Given the description of an element on the screen output the (x, y) to click on. 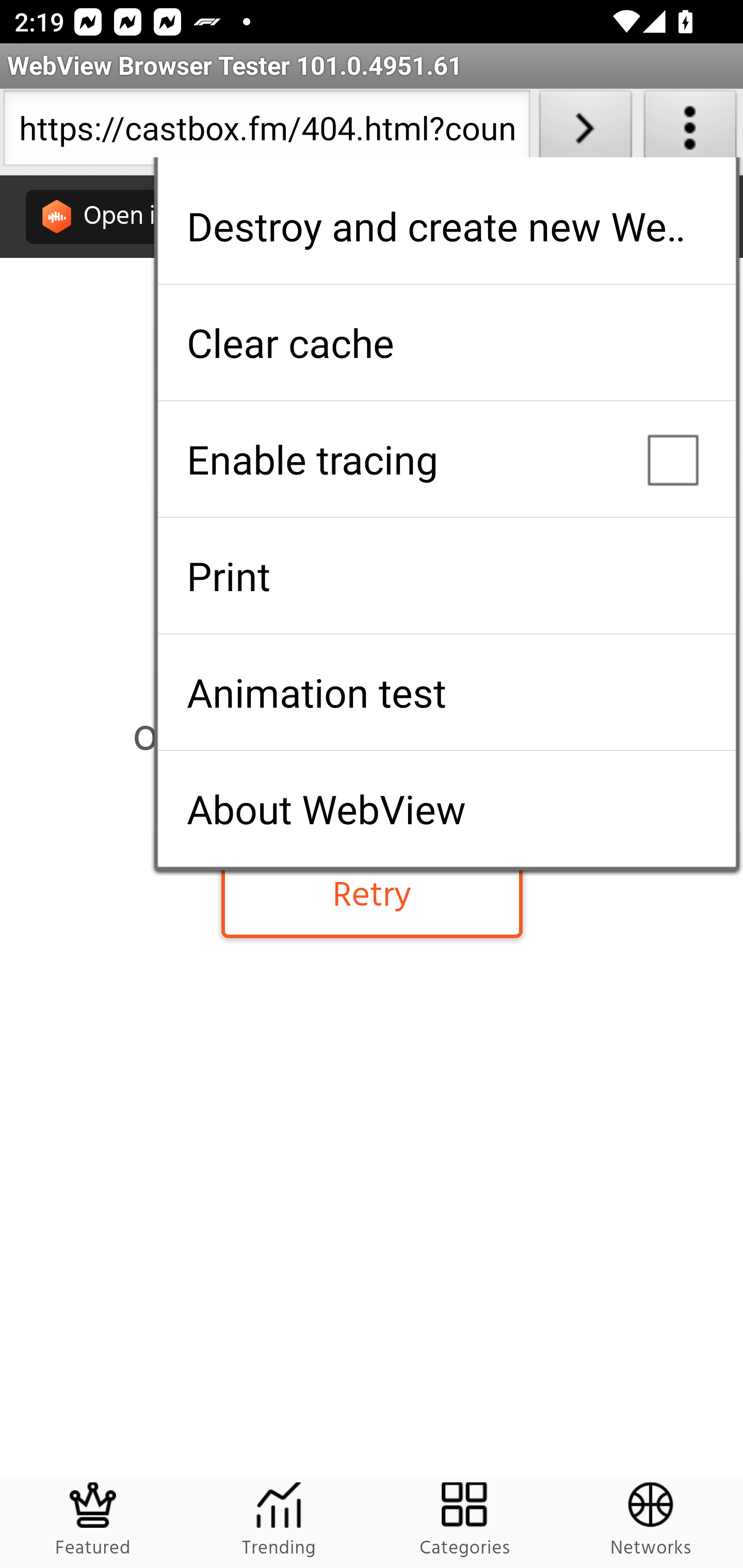
Destroy and create new WebView (446, 225)
Clear cache (446, 342)
Enable tracing (446, 459)
Print (446, 575)
Animation test (446, 692)
About WebView (446, 809)
